Given the description of an element on the screen output the (x, y) to click on. 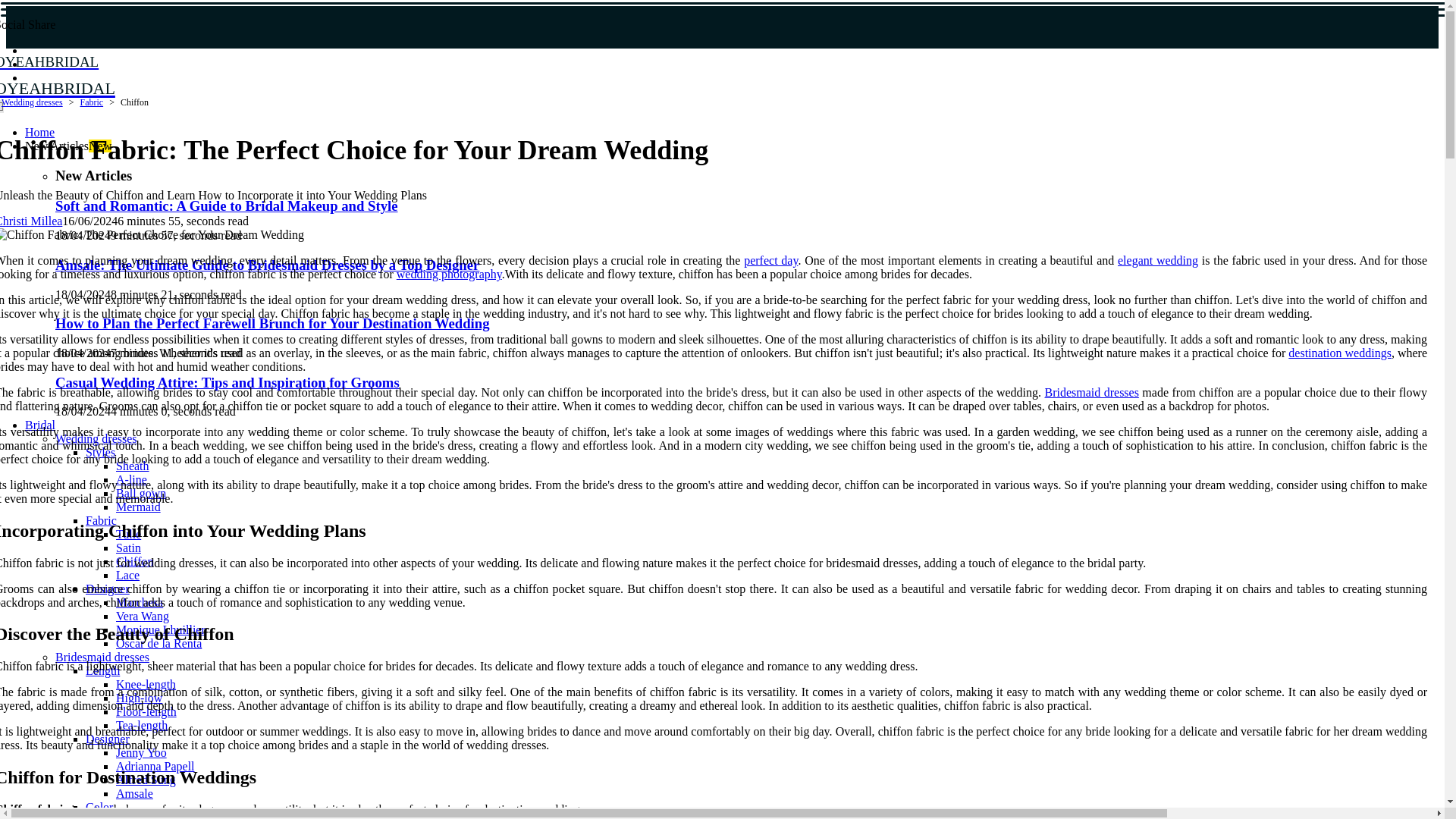
Casual Wedding Attire: Tips and Inspiration for Grooms (226, 382)
Knee-length (146, 684)
Vera Wang (142, 615)
Chiffon (134, 561)
Bridesmaid dresses (102, 656)
Length (244, 73)
Monique Lhuillier (102, 670)
Sheath (160, 629)
